Given the description of an element on the screen output the (x, y) to click on. 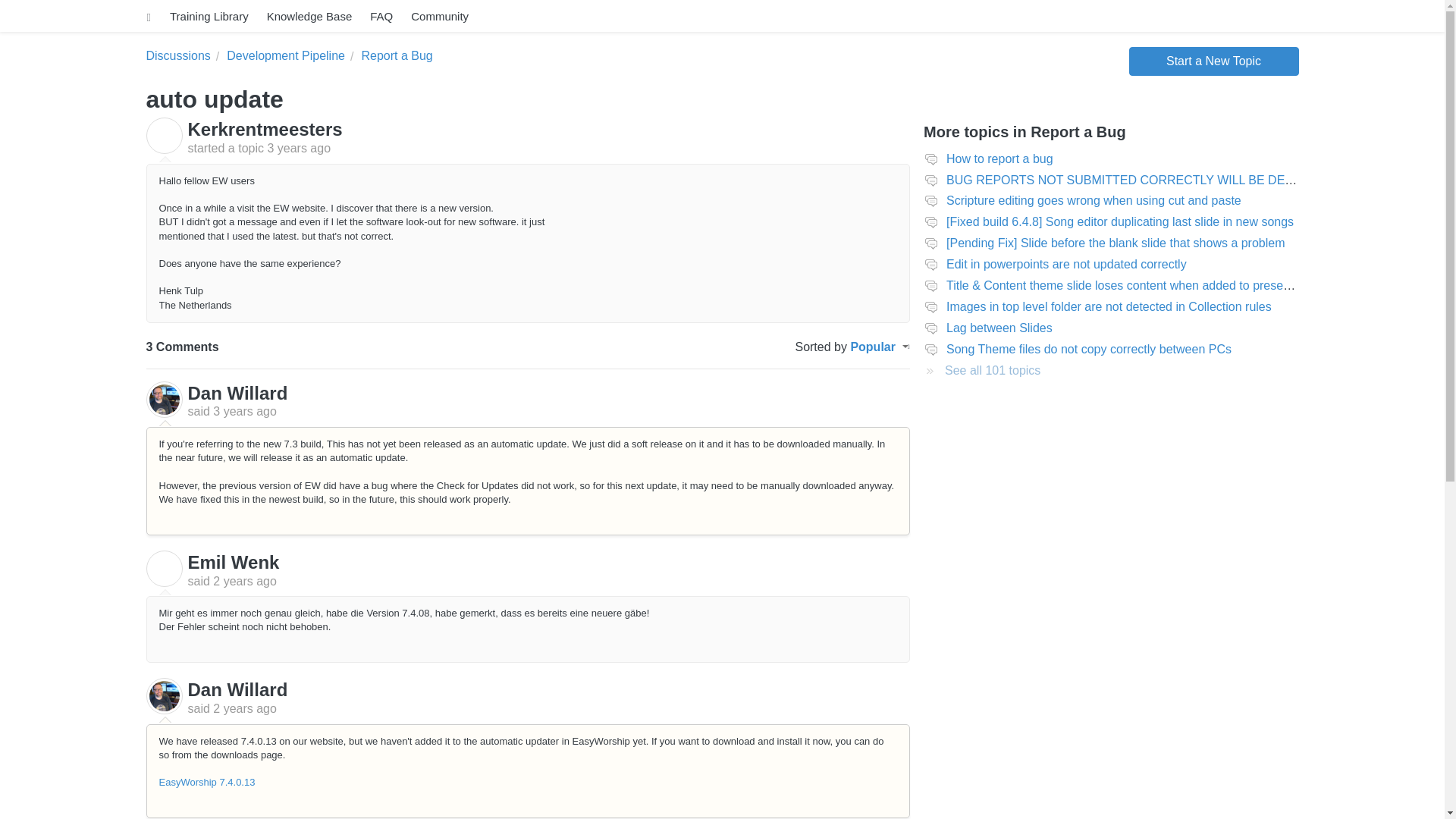
Knowledge Base (312, 16)
Sun, 27 Nov, 2022 at  9:04 AM (244, 581)
Discussions (177, 55)
Community (442, 16)
Edit in powerpoints are not updated correctly (1066, 264)
Scripture editing goes wrong when using cut and paste (1093, 200)
Development Pipeline (280, 55)
Song Theme files do not copy correctly between PCs (1088, 349)
See all 101 topics (982, 369)
Training Library (211, 16)
BUG REPORTS NOT SUBMITTED CORRECTLY WILL BE DELETED (1134, 179)
FAQ (384, 16)
Start a New Topic (1213, 61)
Report a Bug (391, 55)
